Given the description of an element on the screen output the (x, y) to click on. 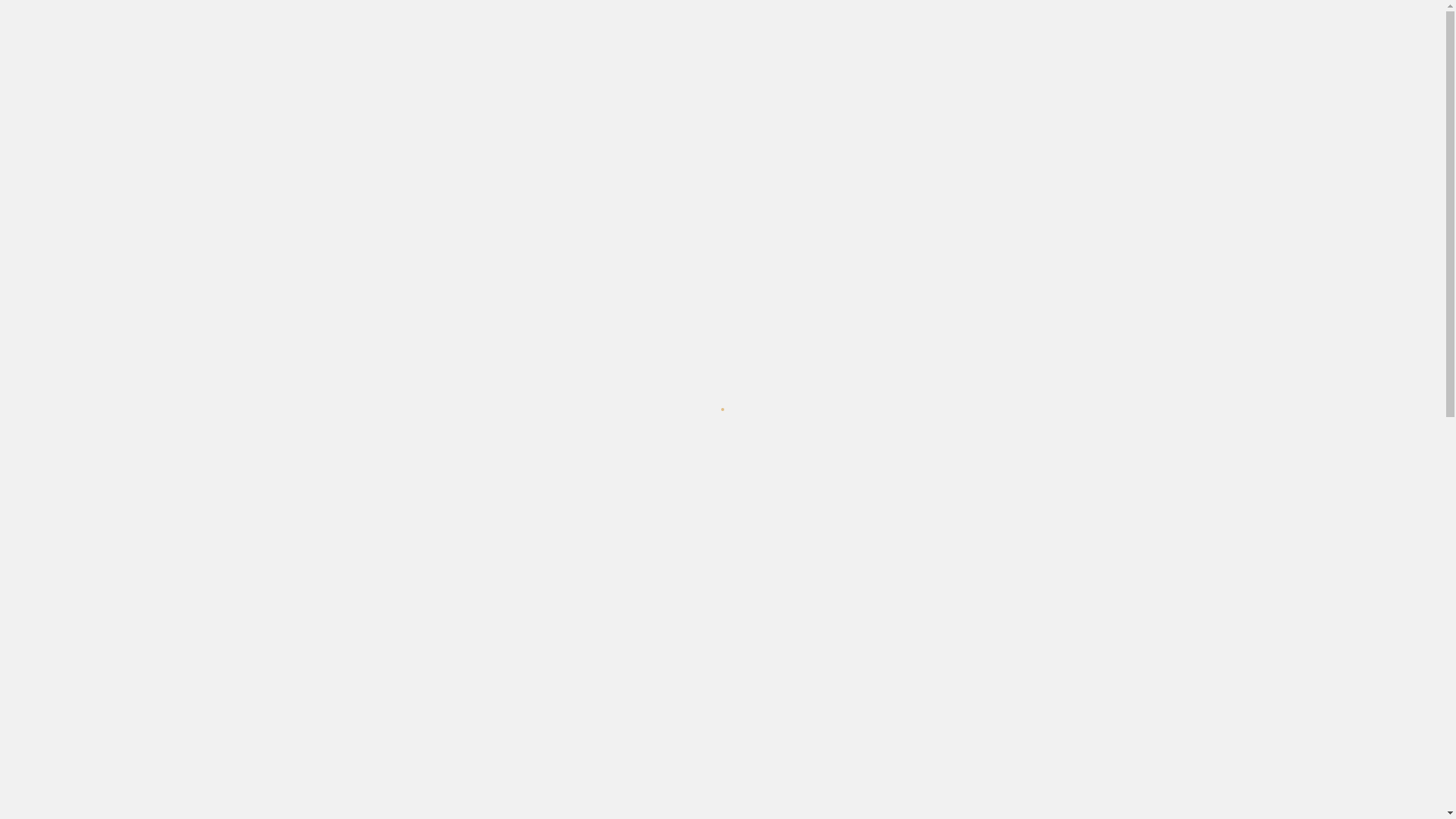
   Element type: text (1147, 13)
OTAQLAR Element type: text (880, 59)
HAQQIMIZDA Element type: text (798, 59)
QALEREYA Element type: text (956, 59)
